Given the description of an element on the screen output the (x, y) to click on. 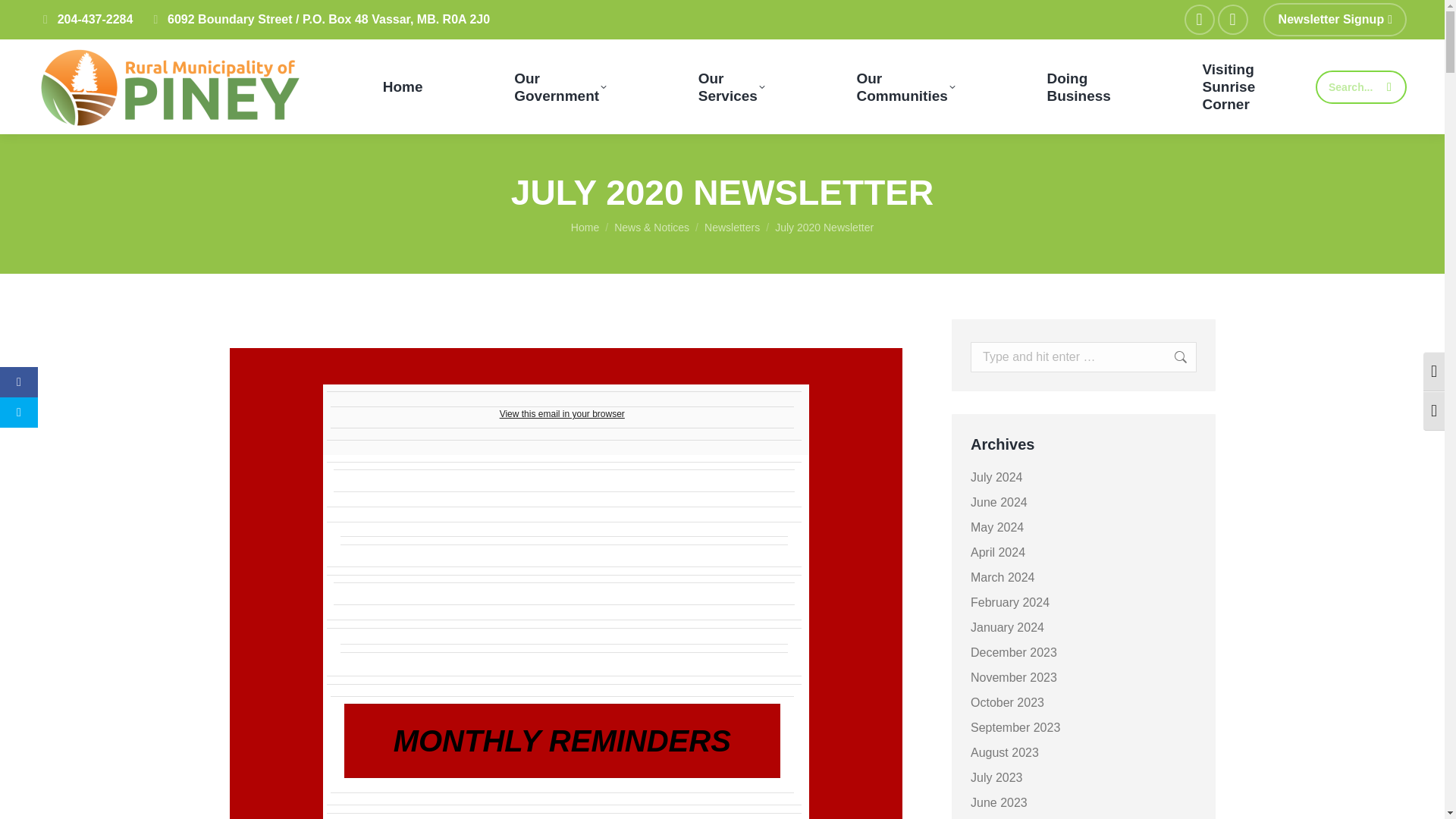
Go! (731, 86)
Newsletter Signup (1164, 357)
Go! (1334, 19)
Home (1164, 357)
Facebook page opens in new window (402, 86)
X page opens in new window (1199, 19)
